Given the description of an element on the screen output the (x, y) to click on. 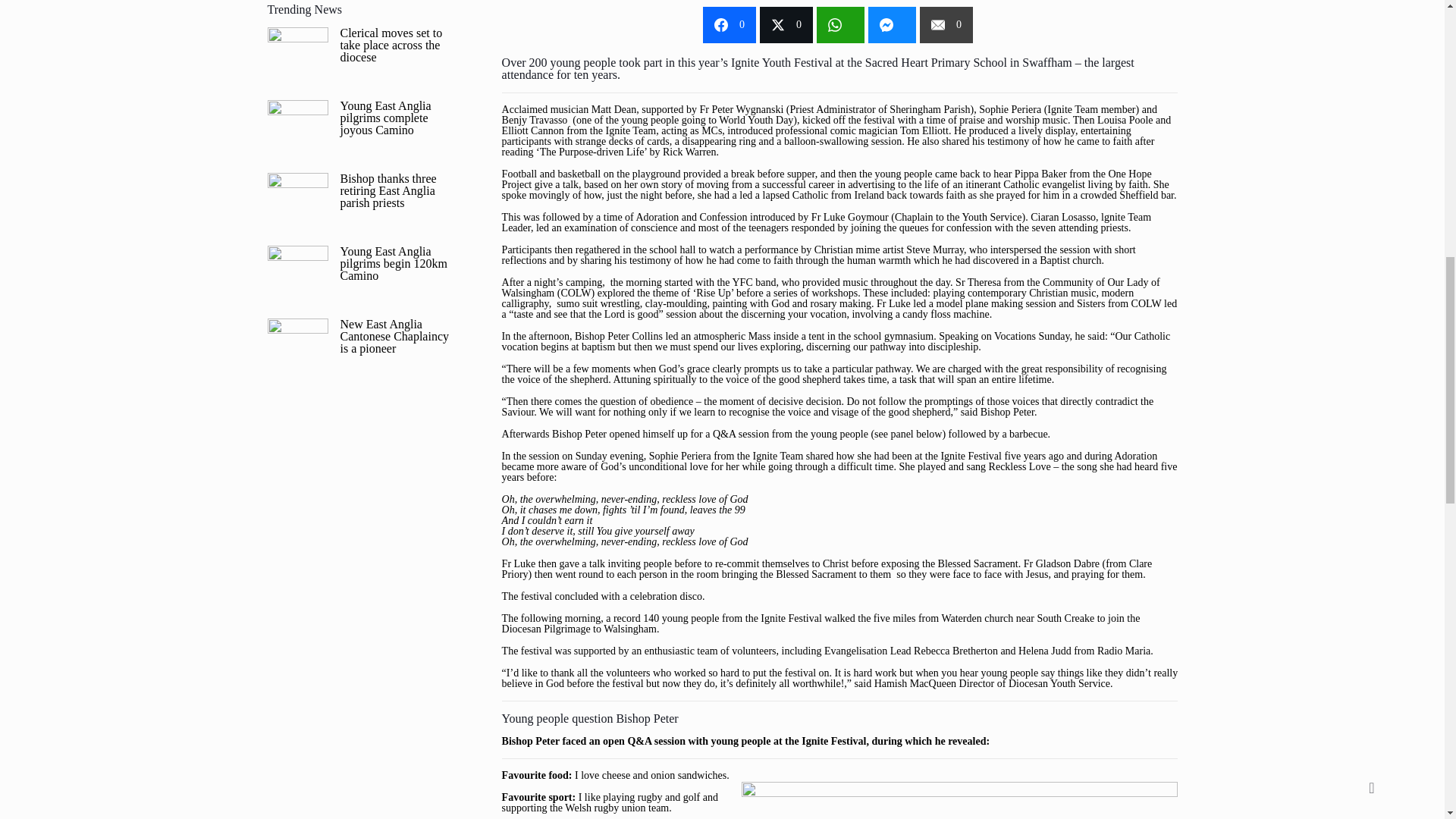
Share on WhatsApp (840, 24)
Share on Twitter (786, 24)
Share on Email (946, 24)
Share on Facebook (729, 24)
Share on Facebook Messenger (891, 24)
